Given the description of an element on the screen output the (x, y) to click on. 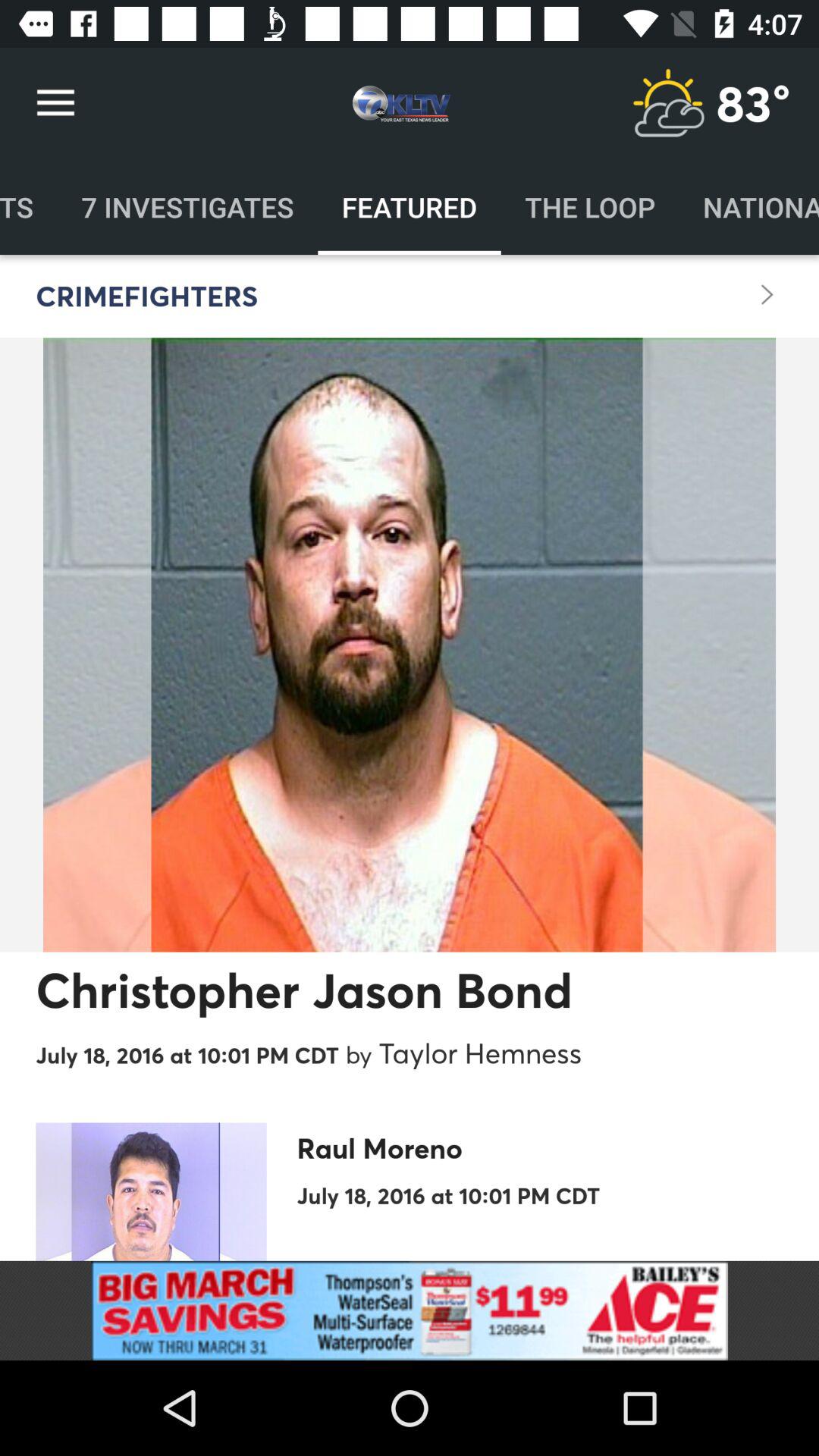
know about the advertisement (409, 1310)
